Given the description of an element on the screen output the (x, y) to click on. 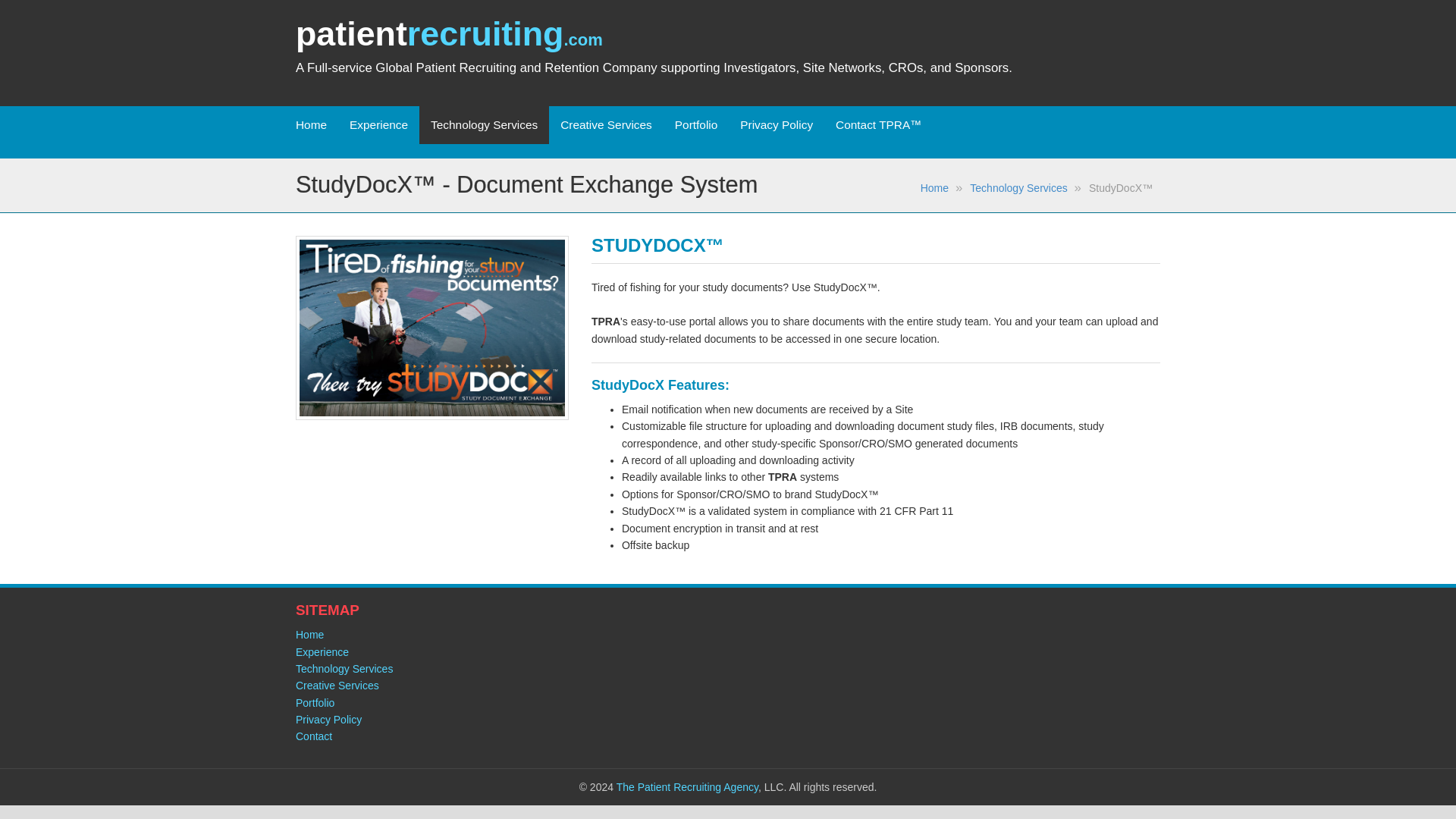
Creative Services (336, 685)
Experience (322, 652)
Privacy Policy (328, 719)
Portfolio (314, 702)
Home (309, 634)
Contact (313, 736)
The Patient Recruiting Agency (686, 787)
Technology Services (344, 668)
Technology Services (1018, 187)
